Given the description of an element on the screen output the (x, y) to click on. 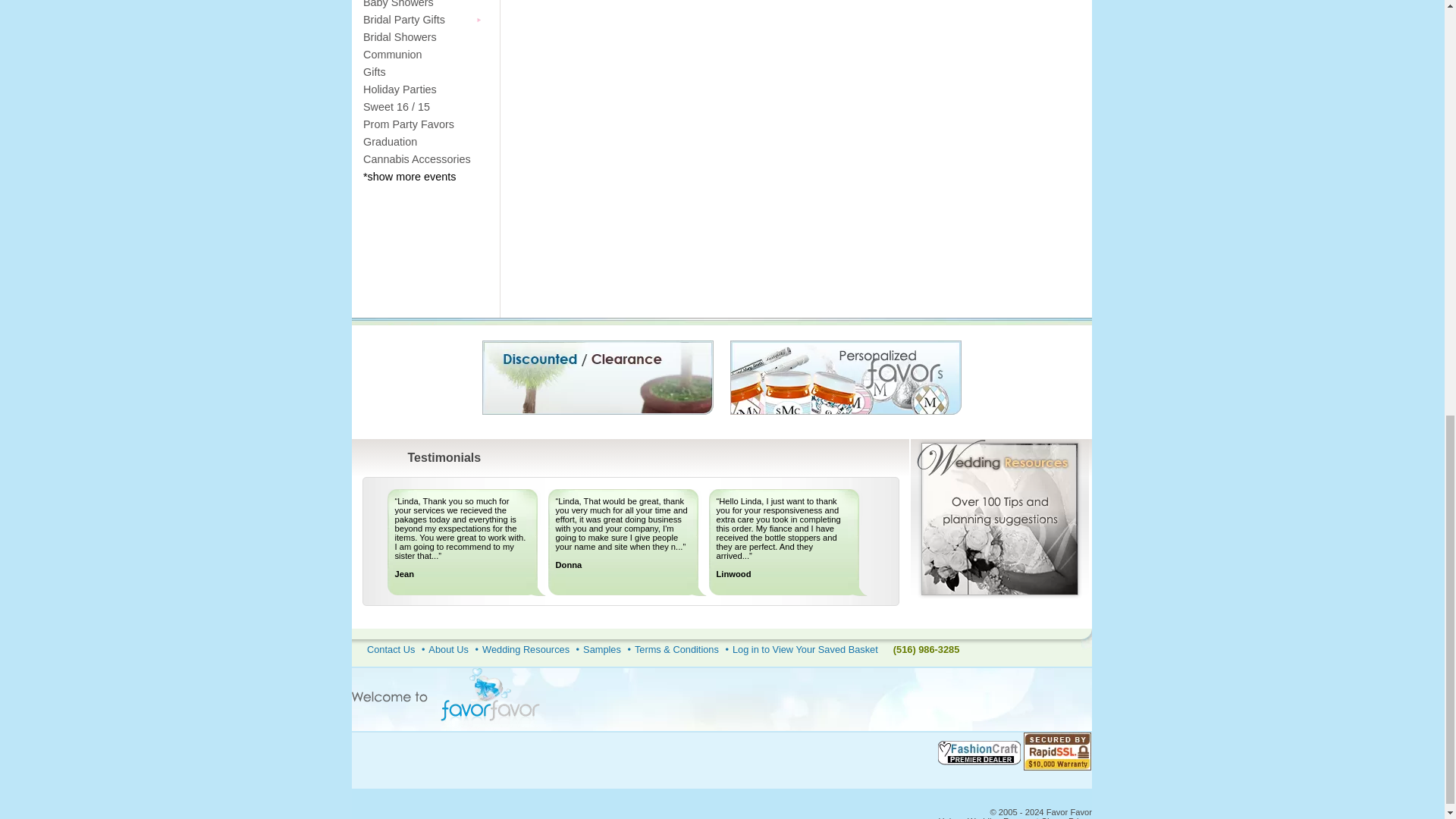
Favor Favor is a FashionCraft Wedding Favors Premier Dealer (979, 752)
